Given the description of an element on the screen output the (x, y) to click on. 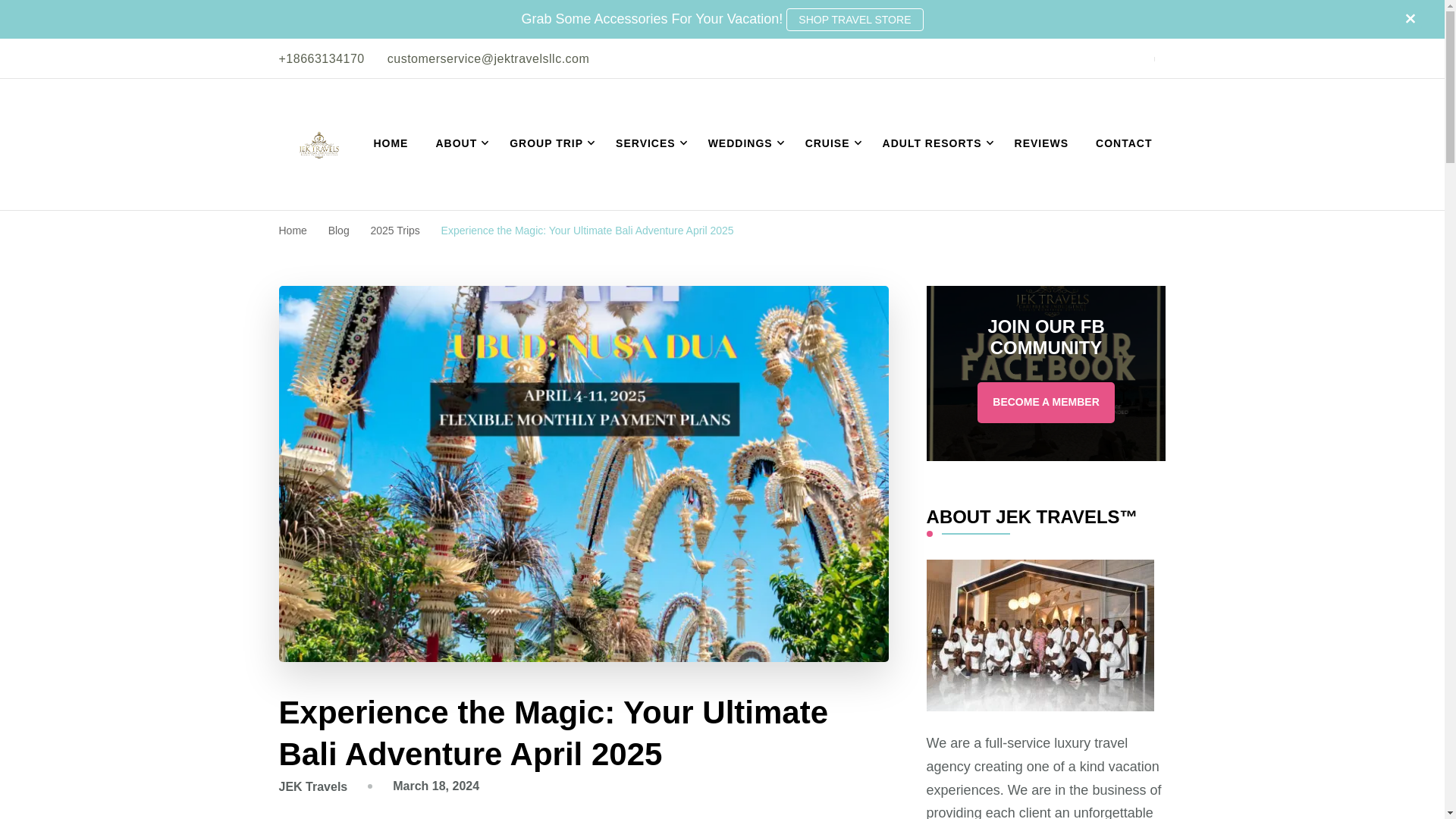
HOME (390, 143)
ABOUT (459, 143)
CRUISE (830, 143)
WEDDINGS (743, 143)
SERVICES (648, 143)
GROUP TRIP (549, 143)
SHOP TRAVEL STORE (854, 19)
